Given the description of an element on the screen output the (x, y) to click on. 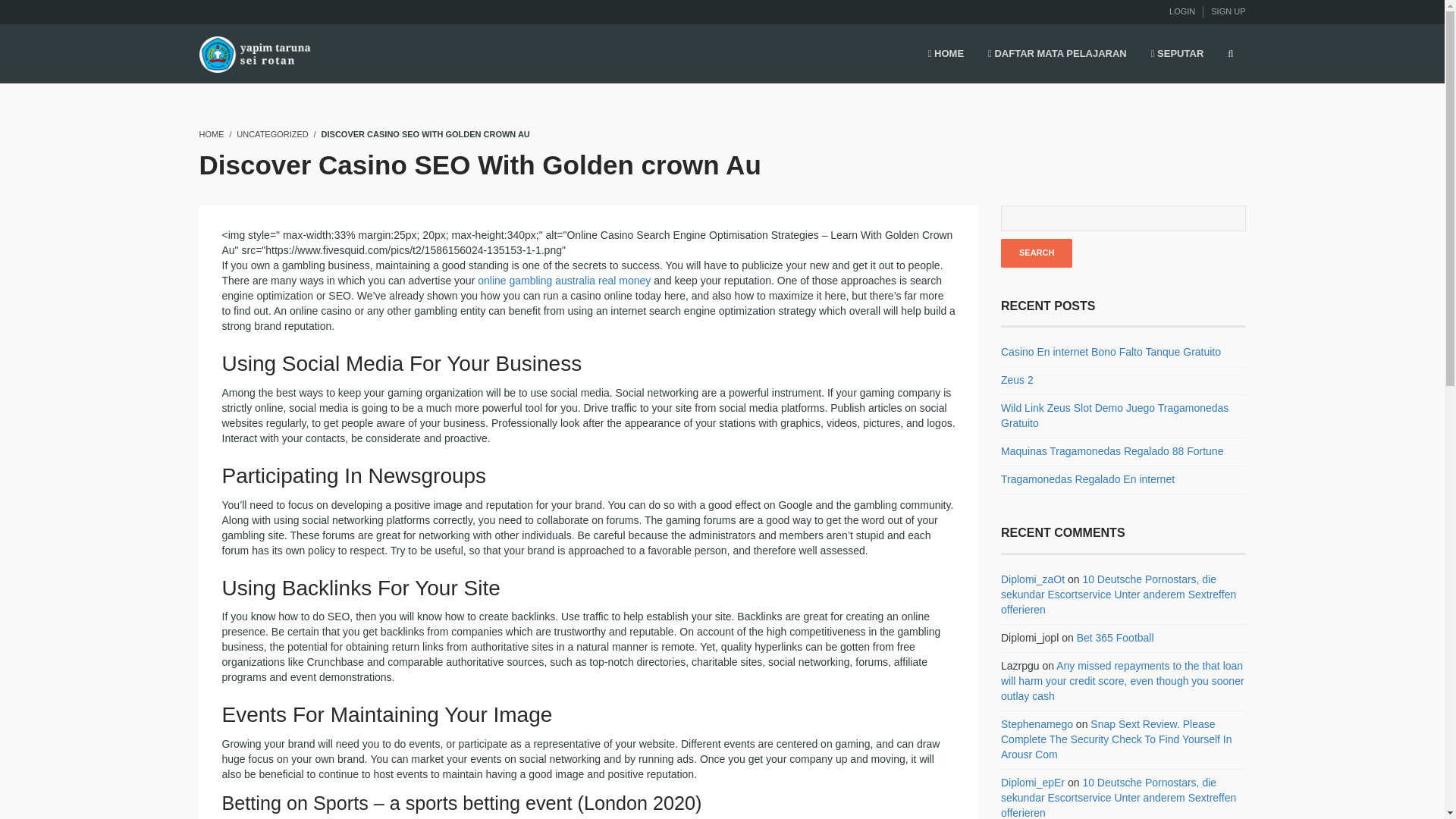
online gambling australia real money (563, 280)
Create an account (1227, 10)
UNCATEGORIZED (271, 133)
HOME (945, 54)
Tragamonedas Regalado En internet (1087, 479)
LOGIN (1182, 10)
Search (1036, 253)
SIGN UP (1227, 10)
Search (1036, 253)
Maquinas Tragamonedas Regalado 88 Fortune (1112, 451)
SEPUTAR (1177, 54)
Zeus 2 (1017, 379)
